Given the description of an element on the screen output the (x, y) to click on. 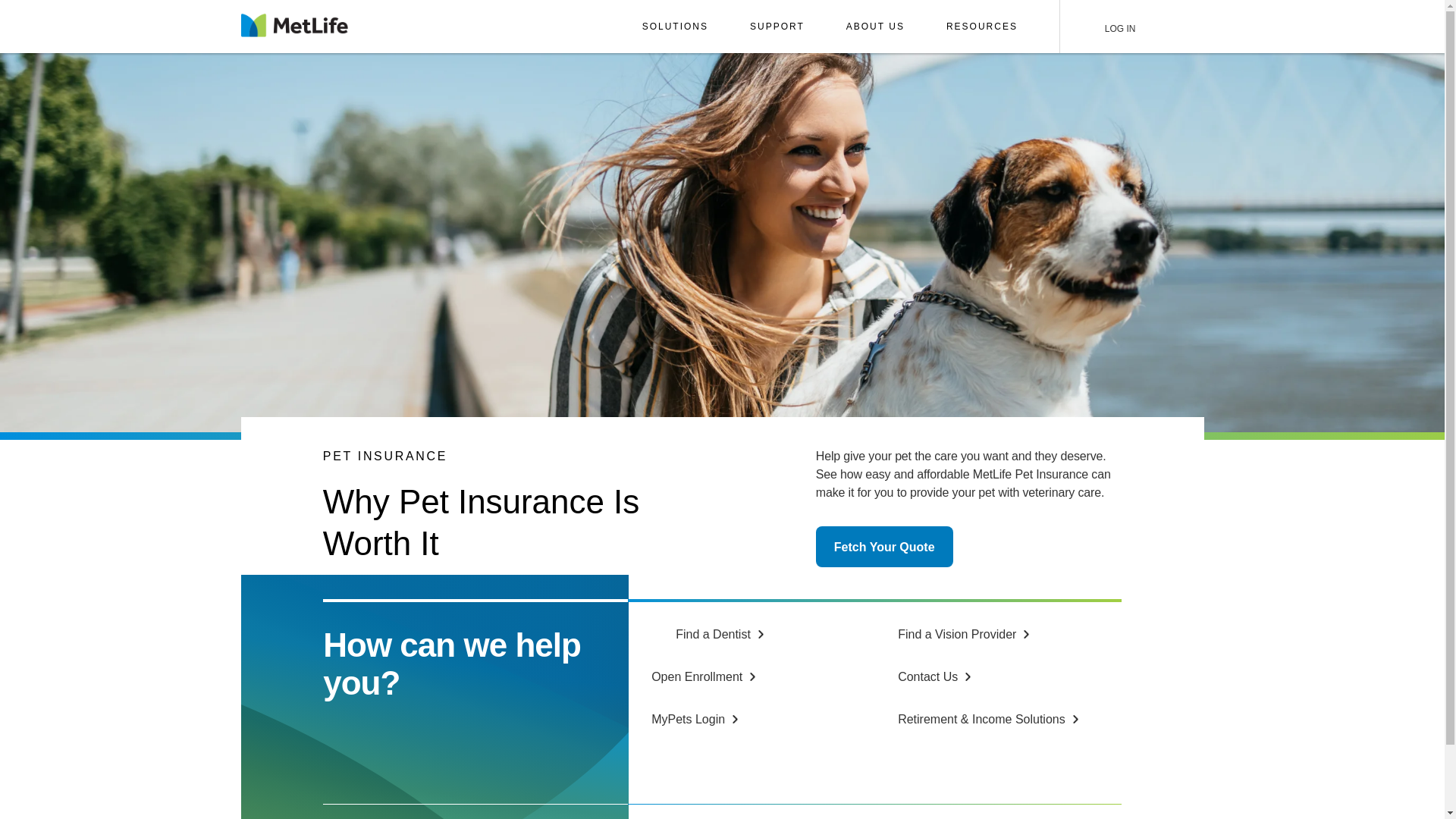
SEARCH (1171, 26)
LOG IN LOG IN (1112, 27)
LOG IN (1112, 27)
